Given the description of an element on the screen output the (x, y) to click on. 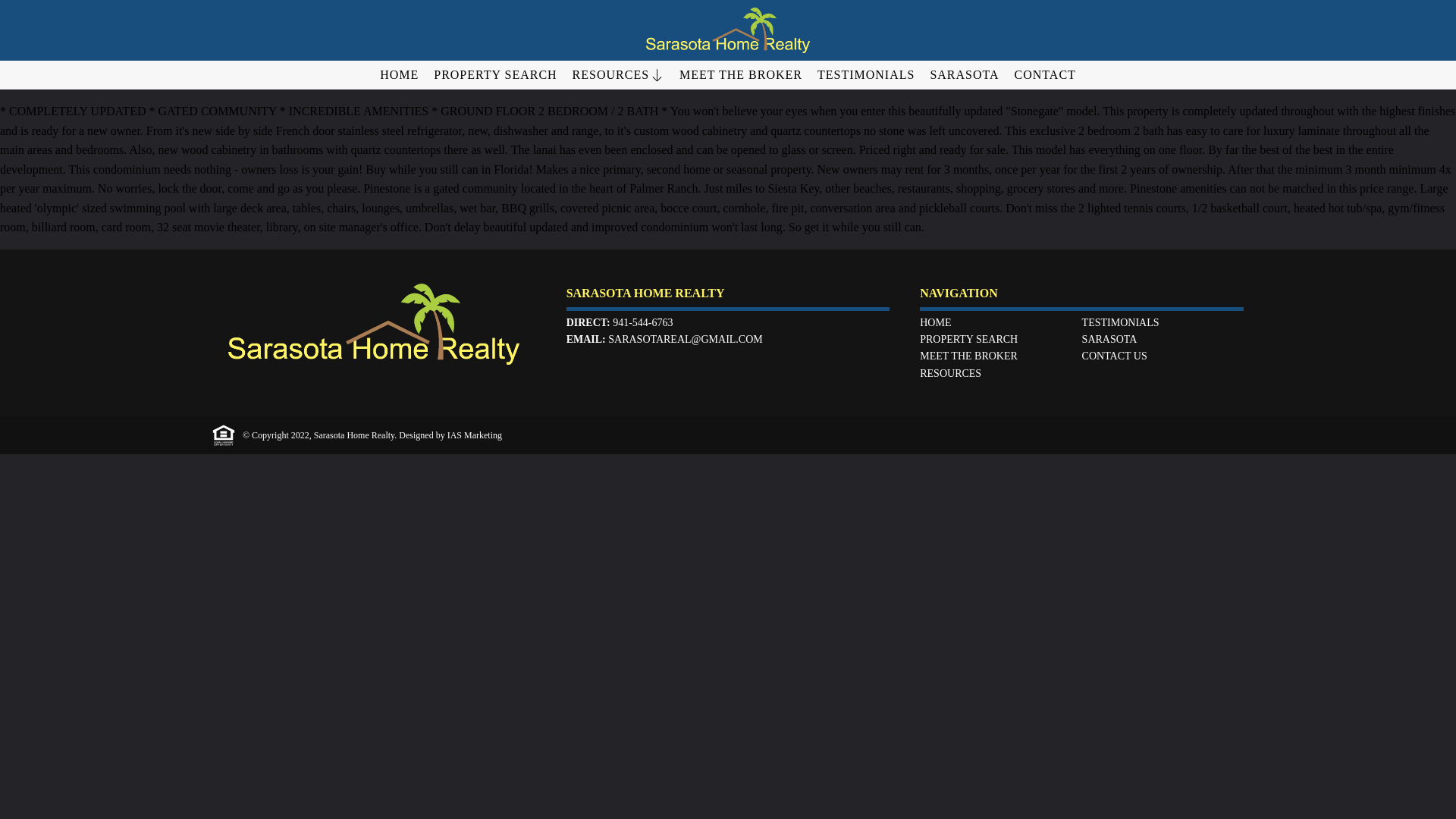
PROPERTY SEARCH (968, 338)
HOME (935, 322)
CONTACT US (1114, 355)
RESOURCES (950, 373)
MEET THE BROKER (968, 355)
IAS Marketing (474, 434)
SARASOTA (1109, 338)
TESTIMONIALS (1119, 322)
CONTACT (1045, 74)
MEET THE BROKER (740, 74)
RESOURCES (618, 74)
SARASOTA (964, 74)
PROPERTY SEARCH (494, 74)
TESTIMONIALS (865, 74)
HOME (398, 74)
